Given the description of an element on the screen output the (x, y) to click on. 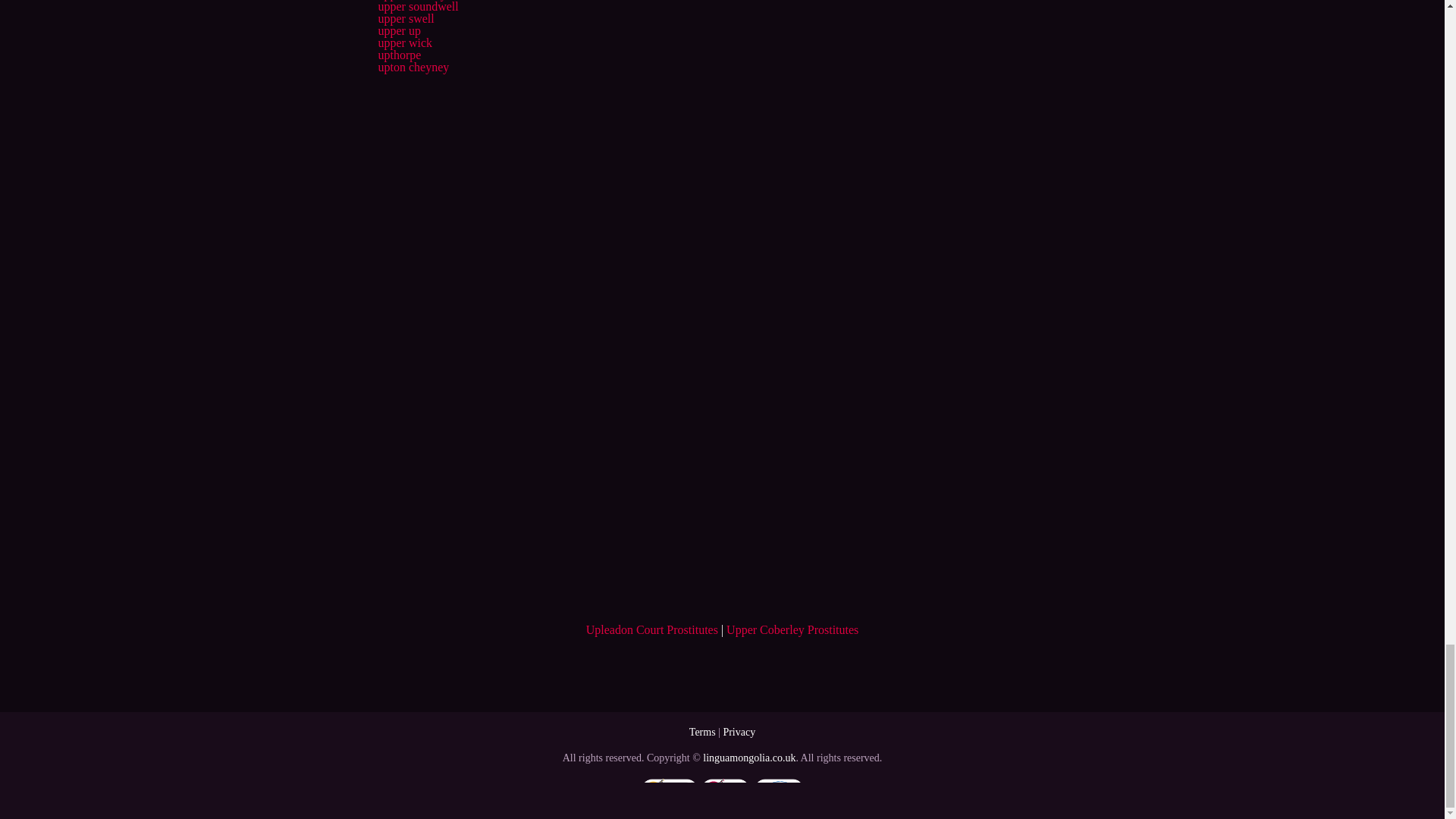
upper wick (404, 42)
Privacy (738, 731)
upper up (398, 30)
upper soundwell (417, 6)
Terms (702, 731)
Terms (702, 731)
Privacy (738, 731)
upthorpe (398, 54)
upton cheyney (412, 66)
Upleadon Court Prostitutes (651, 629)
Upper Coberley Prostitutes (792, 629)
linguamongolia.co.uk (748, 757)
upper swell (405, 18)
upper soudley (411, 0)
